Given the description of an element on the screen output the (x, y) to click on. 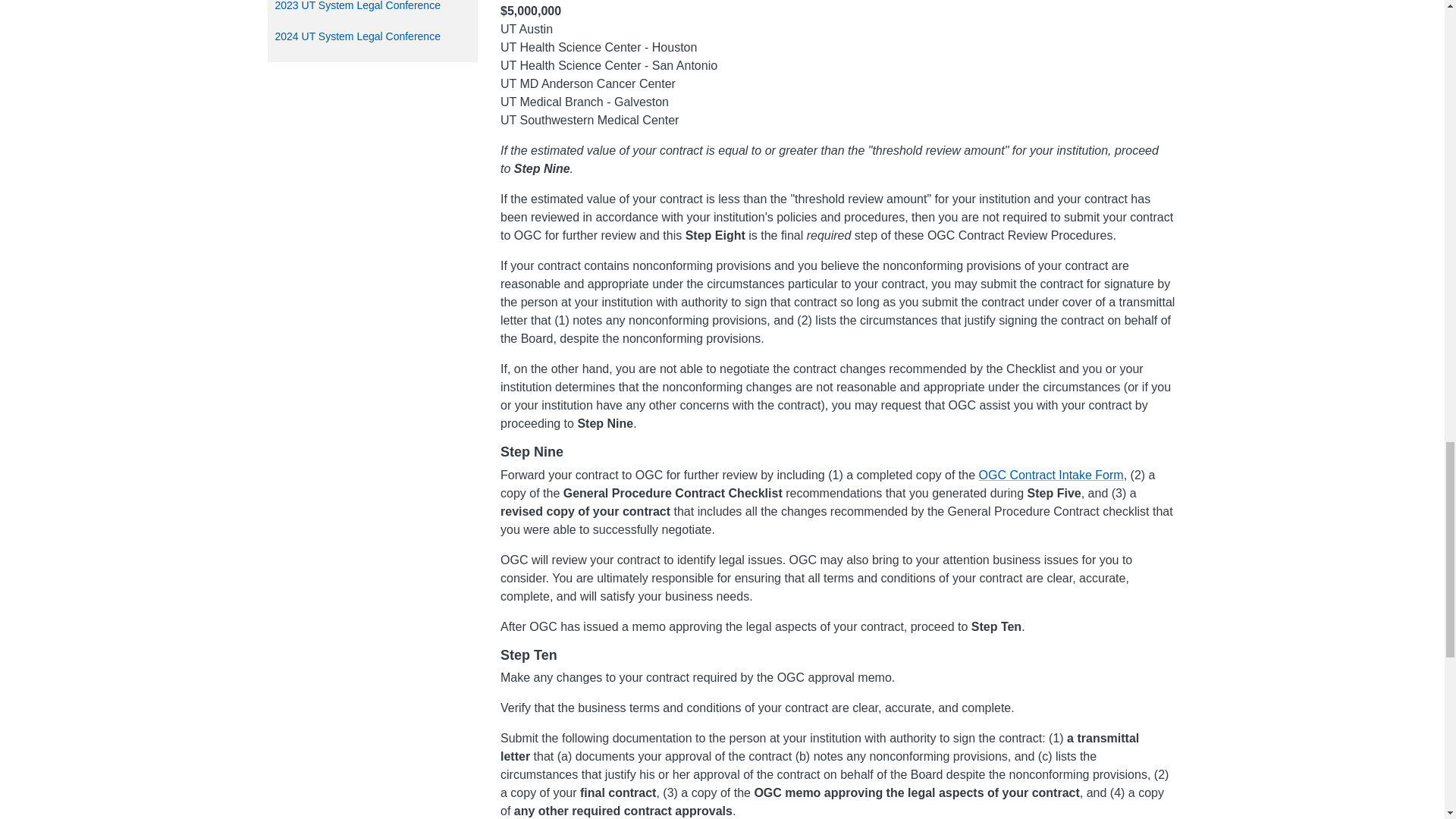
OGC Contract Intake Form (1050, 474)
